Given the description of an element on the screen output the (x, y) to click on. 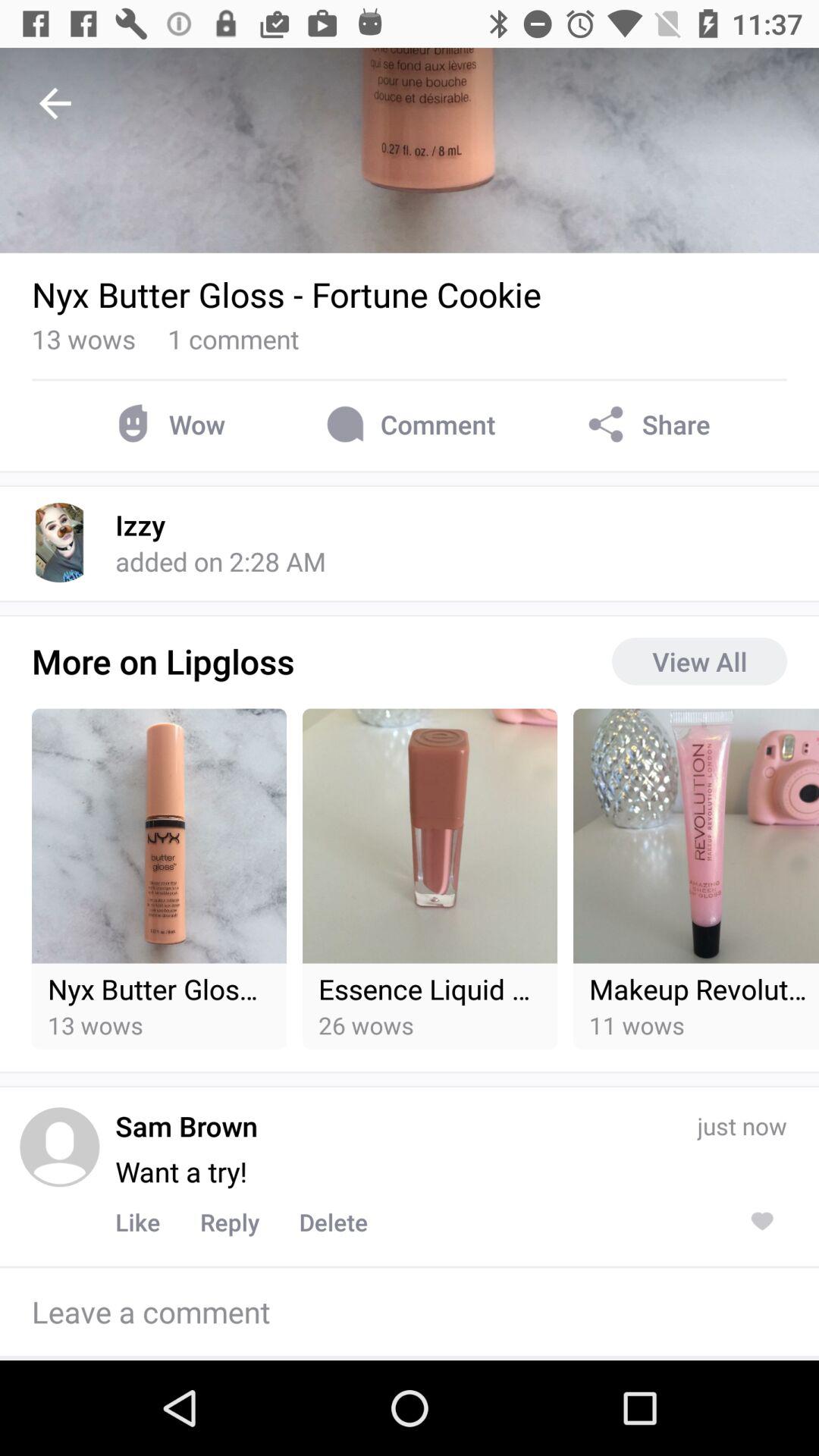
go to user page (59, 1146)
